Given the description of an element on the screen output the (x, y) to click on. 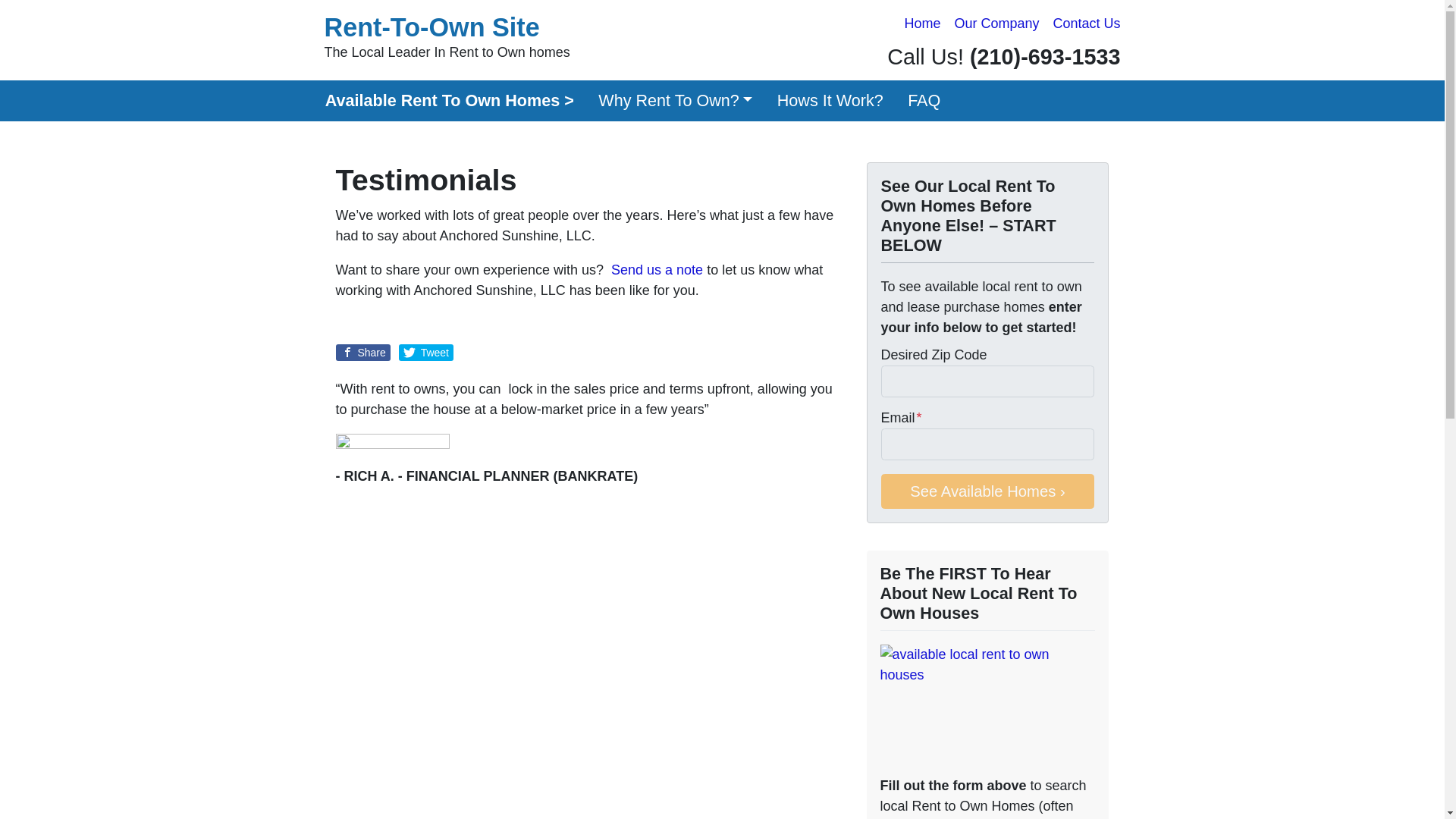
available local rent to own houses (986, 706)
Why Rent To Own?  (675, 100)
Why Rent To Own? (675, 100)
Share on Facebook (362, 352)
Share on Twitter (425, 352)
Hows It Work? (830, 100)
Home (921, 23)
Contact Us (1085, 23)
Our Company (996, 23)
Hows It Work? (830, 100)
Send us a note (657, 269)
Tweet (425, 352)
FAQ (924, 100)
Share (362, 352)
FAQ (924, 100)
